Given the description of an element on the screen output the (x, y) to click on. 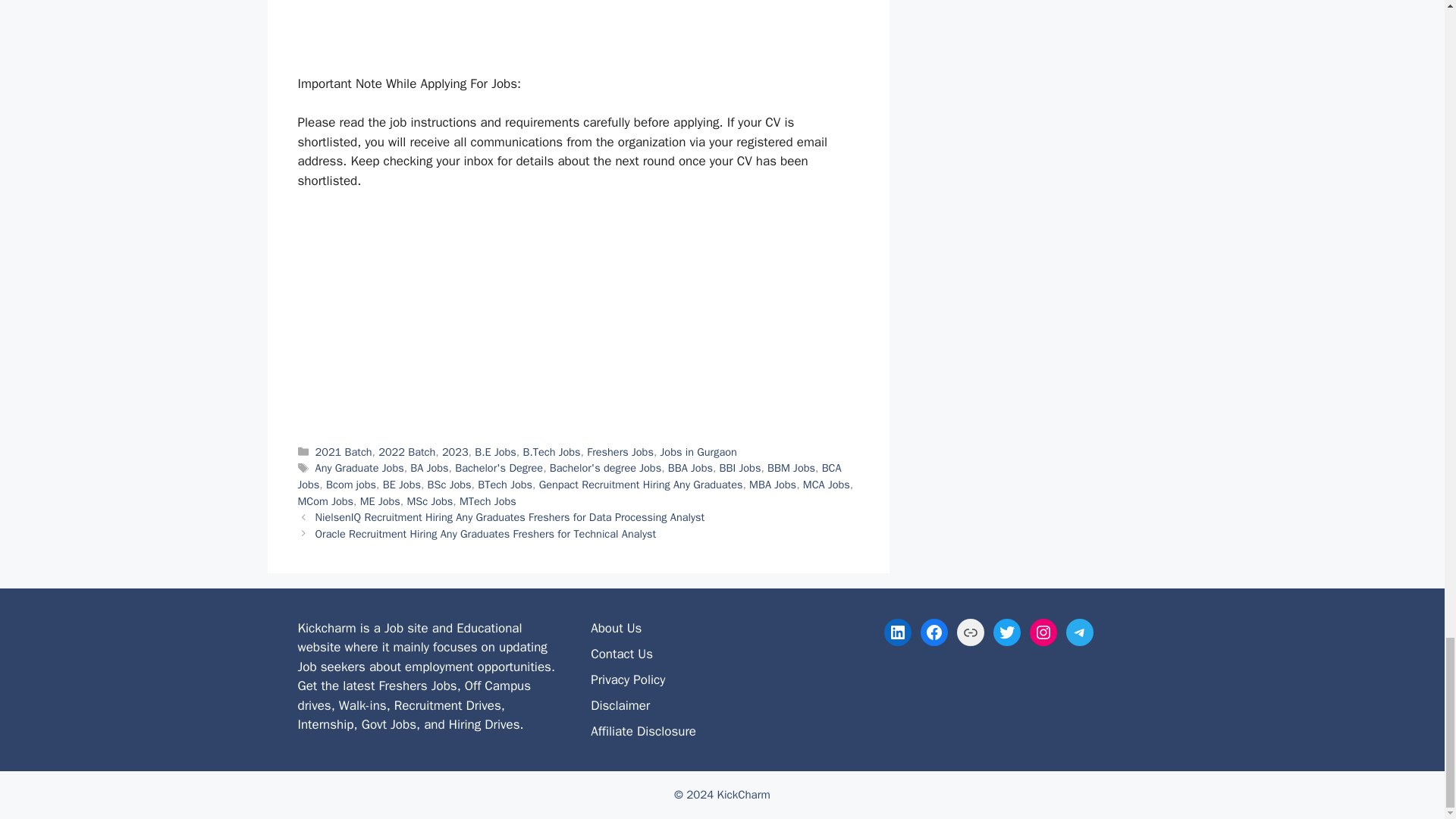
Bachelor's degree Jobs (605, 468)
B.E Jobs (495, 451)
2022 Batch (406, 451)
B.Tech Jobs (550, 451)
BA Jobs (429, 468)
2023 (455, 451)
Bachelor's Degree (498, 468)
BBA Jobs (690, 468)
Jobs in Gurgaon (698, 451)
BCA Jobs (569, 476)
Bcom jobs (350, 484)
Any Graduate Jobs (359, 468)
BBM Jobs (791, 468)
2021 Batch (343, 451)
Freshers Jobs (619, 451)
